Given the description of an element on the screen output the (x, y) to click on. 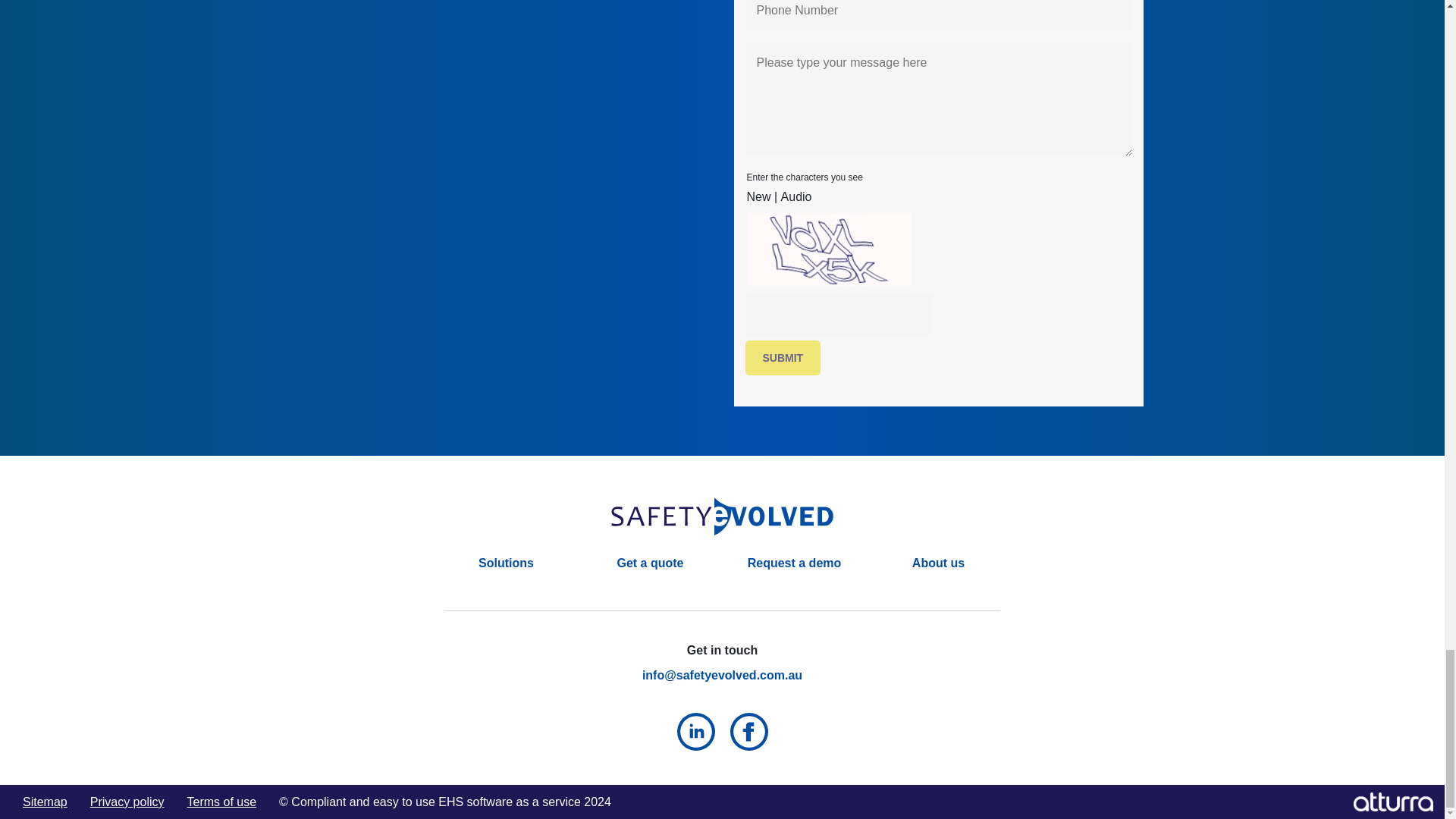
Please type your message here (937, 99)
Get a quote (648, 562)
Request a demo (794, 562)
Audio (796, 196)
Privacy policy (127, 801)
Get a new challenge (757, 196)
About us (937, 562)
SUBMIT (782, 357)
New (757, 196)
Switch to the audio challenge (796, 196)
Sitemap (44, 801)
Solutions (506, 562)
Terms of use (222, 801)
